Given the description of an element on the screen output the (x, y) to click on. 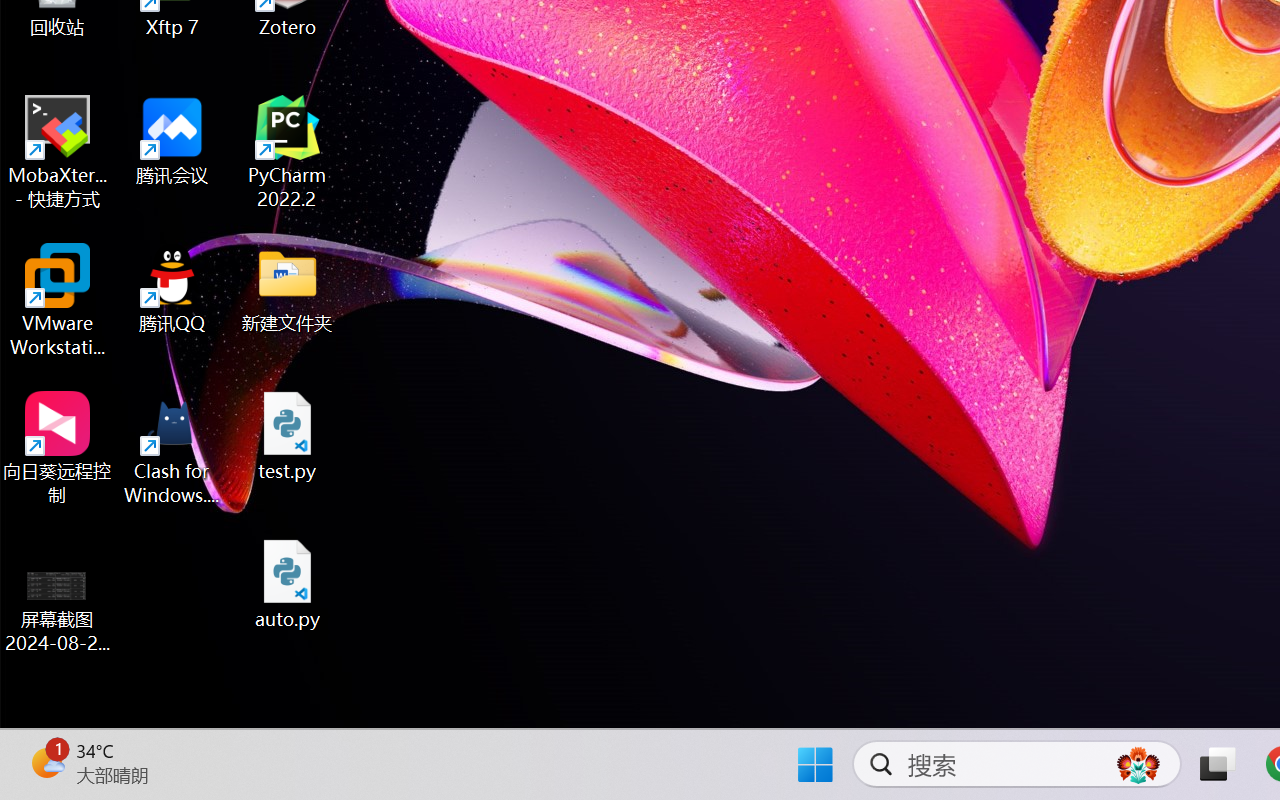
test.py (287, 436)
